Given the description of an element on the screen output the (x, y) to click on. 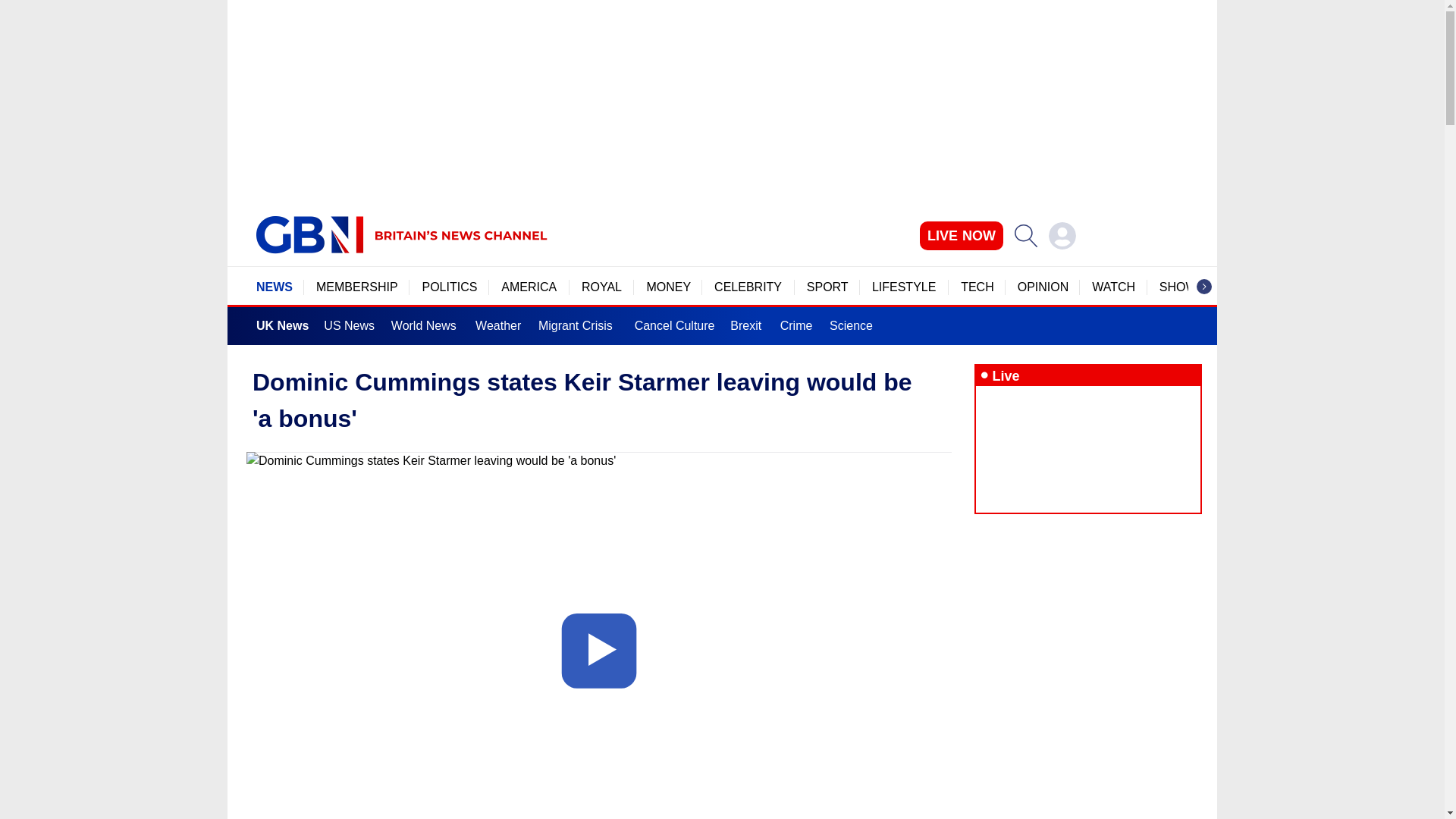
GBN Britain's News Channel (310, 235)
LIVE (961, 235)
Search (1025, 235)
